Given the description of an element on the screen output the (x, y) to click on. 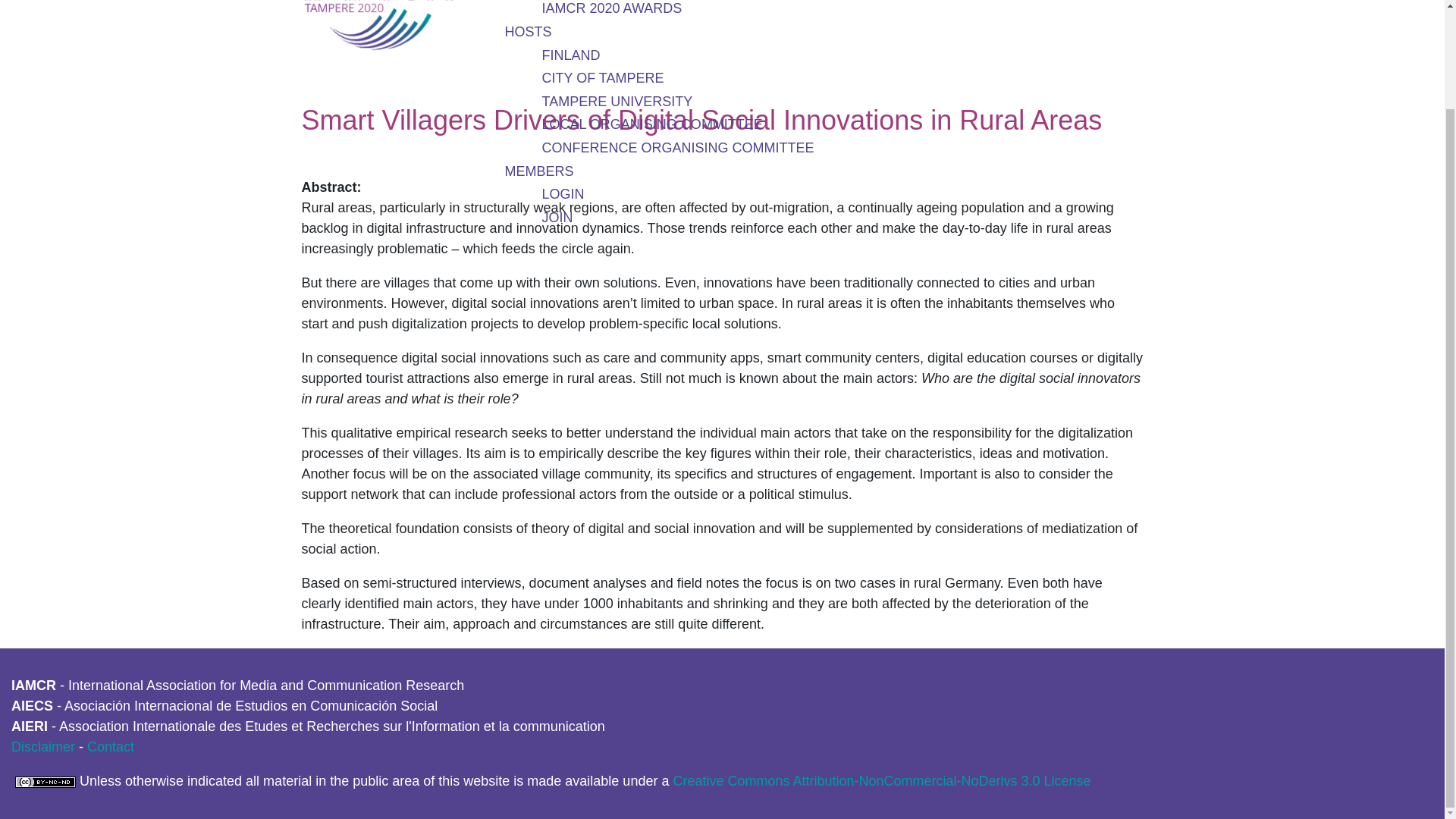
LOCAL ORGANISING COMMITTEE (651, 124)
IAMCR 2020 AWARDS (611, 7)
JOIN (556, 217)
TAMPERE UNIVERSITY (617, 101)
Contact (110, 746)
FINLAND (570, 55)
MEMBERS (539, 171)
CITY OF TAMPERE (602, 77)
LOGIN (562, 193)
